Given the description of an element on the screen output the (x, y) to click on. 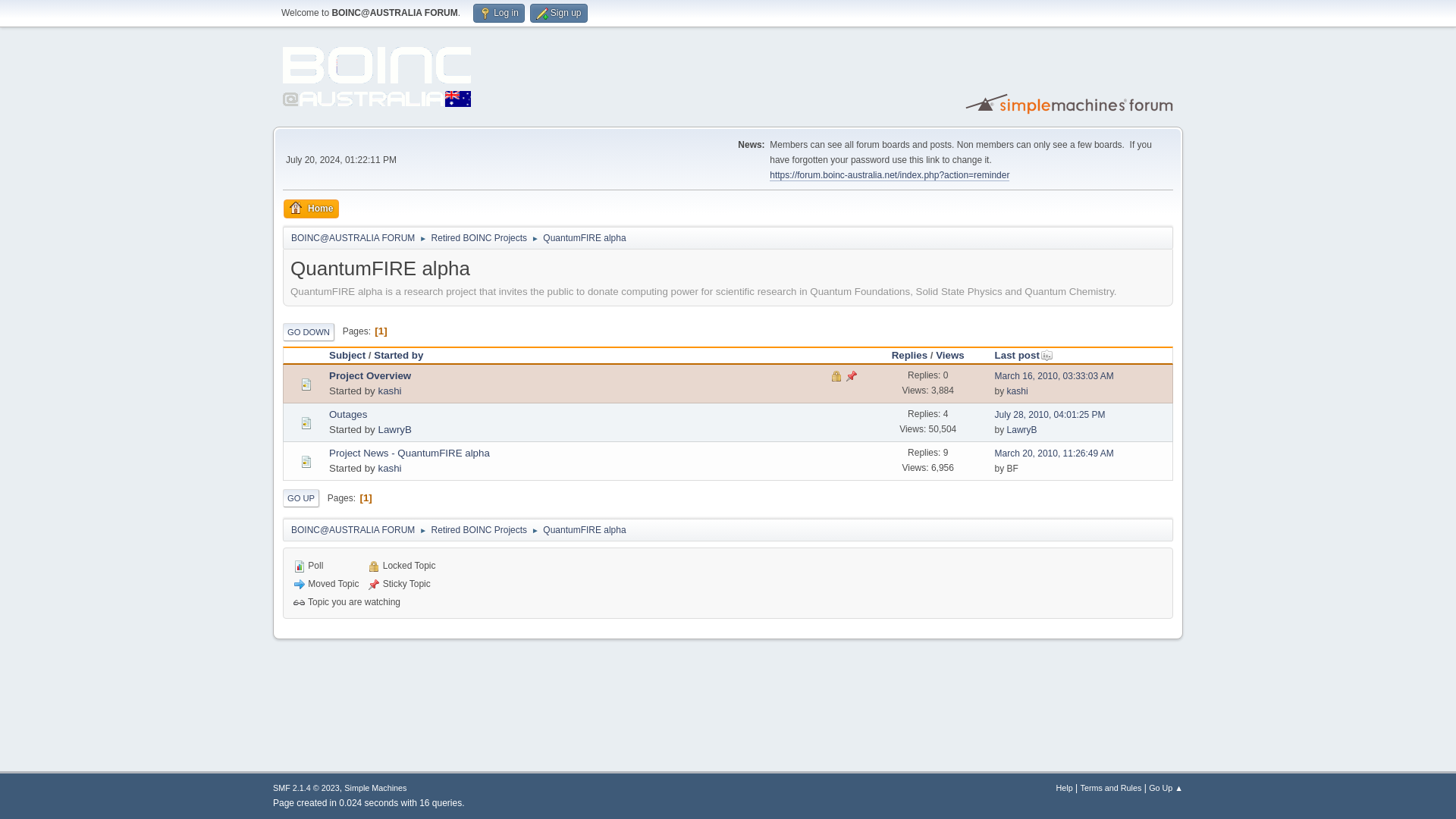
Retired BOINC Projects (478, 527)
Started by (398, 355)
March 20, 2010, 11:26:49 AM (1053, 452)
GO UP (300, 497)
Project Overview (369, 375)
Simple Machines (374, 787)
Retired BOINC Projects (478, 235)
QuantumFIRE alpha (584, 235)
kashi (1017, 390)
Project News - QuantumFIRE alpha (409, 452)
Help (1065, 787)
Simple Machines Forum (1070, 103)
LawryB (1021, 429)
View the profile of kashi (389, 468)
Replies (909, 355)
